Given the description of an element on the screen output the (x, y) to click on. 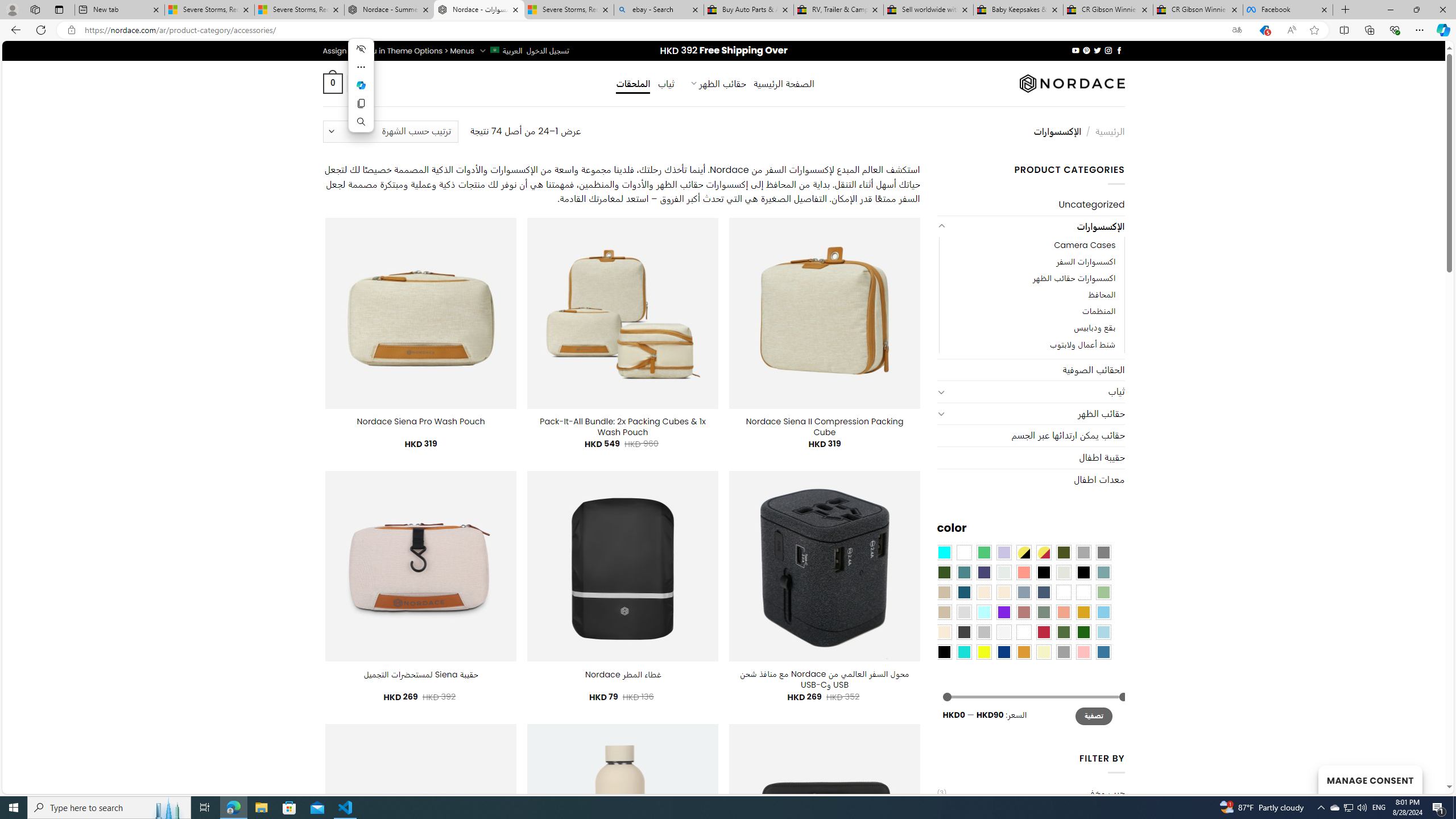
Teal (963, 572)
Buy Auto Parts & Accessories | eBay (747, 9)
Sell worldwide with eBay (928, 9)
Uncategorized (1030, 204)
Yellow-Black (1023, 551)
